Given the description of an element on the screen output the (x, y) to click on. 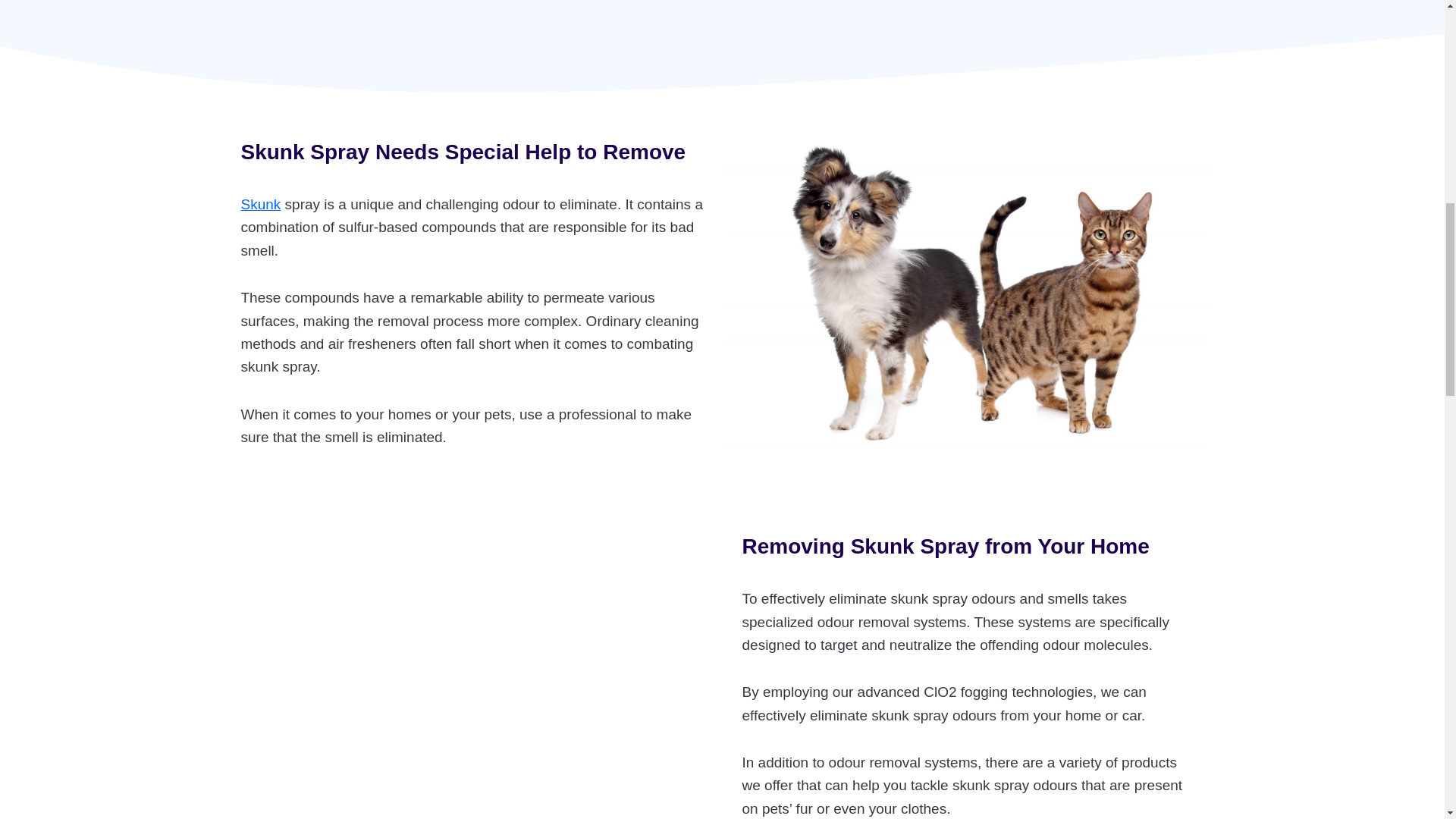
Skunk (261, 204)
